Given the description of an element on the screen output the (x, y) to click on. 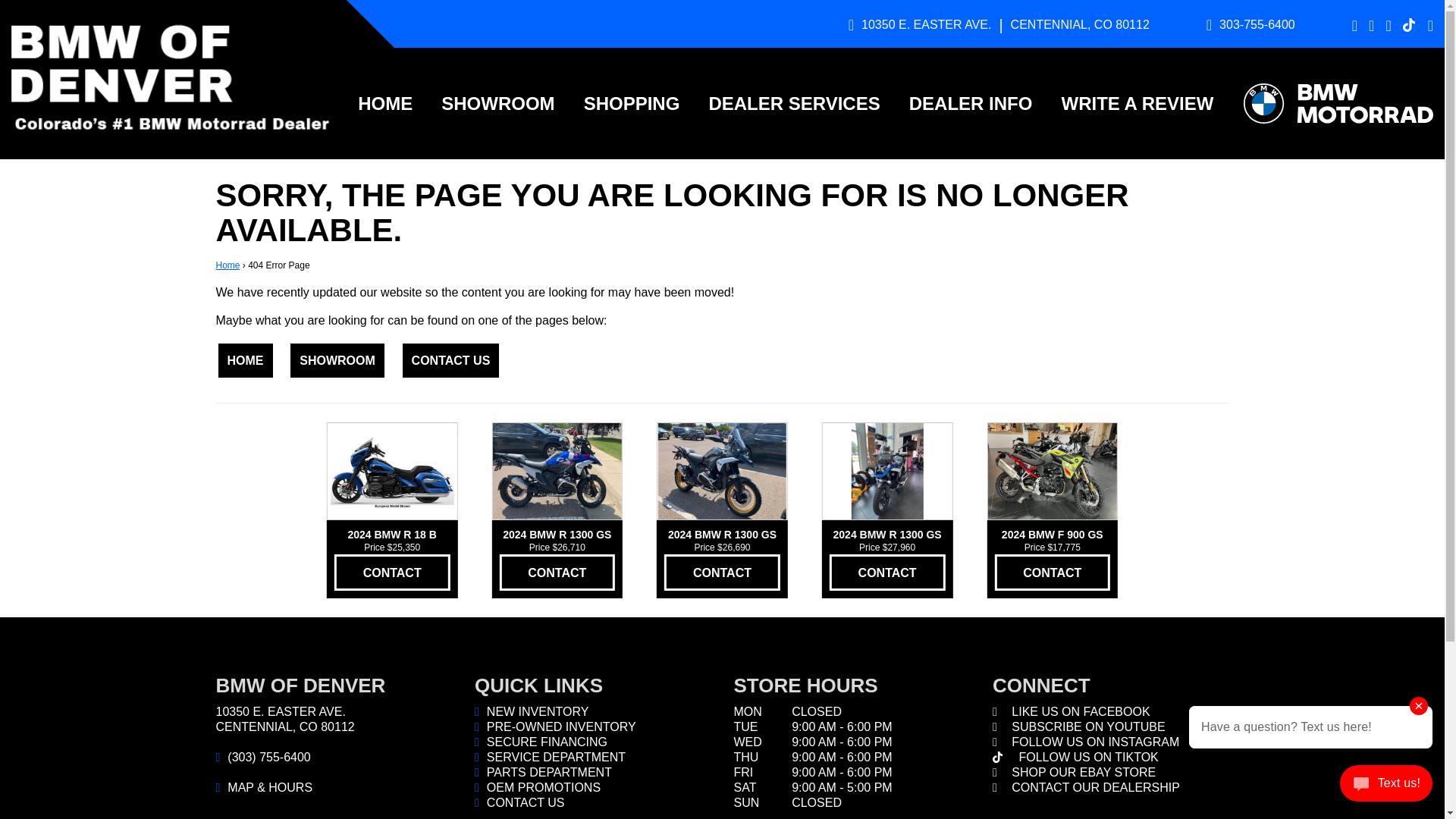
SHOWROOM (497, 102)
HOME (384, 102)
BMW Motorcycles of Denver (172, 79)
SHOPPING (631, 102)
WRITE A REVIEW (1136, 102)
DEALER INFO (970, 102)
DEALER SERVICES (794, 102)
